Given the description of an element on the screen output the (x, y) to click on. 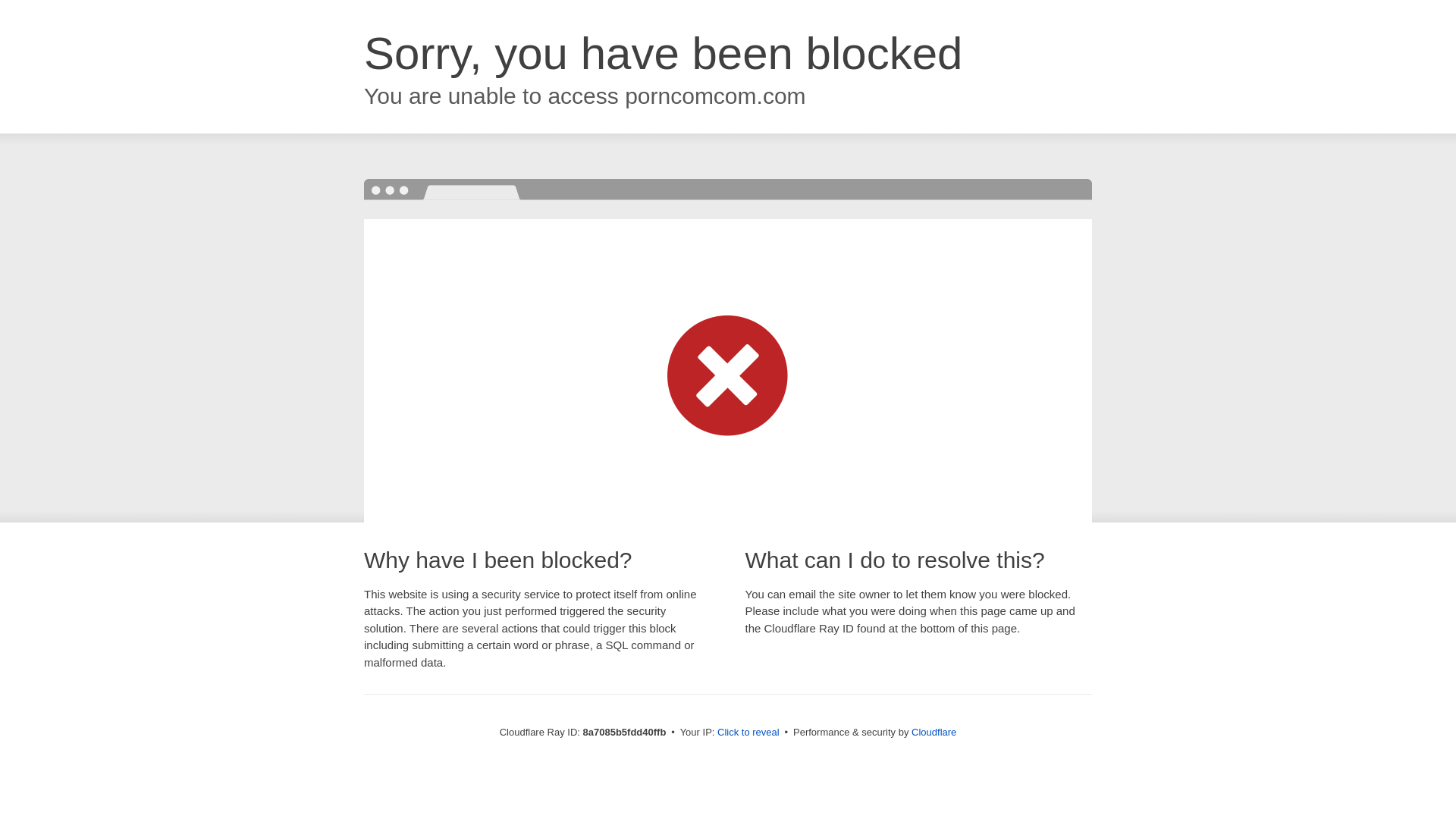
Click to reveal (747, 732)
Cloudflare (933, 731)
